Given the description of an element on the screen output the (x, y) to click on. 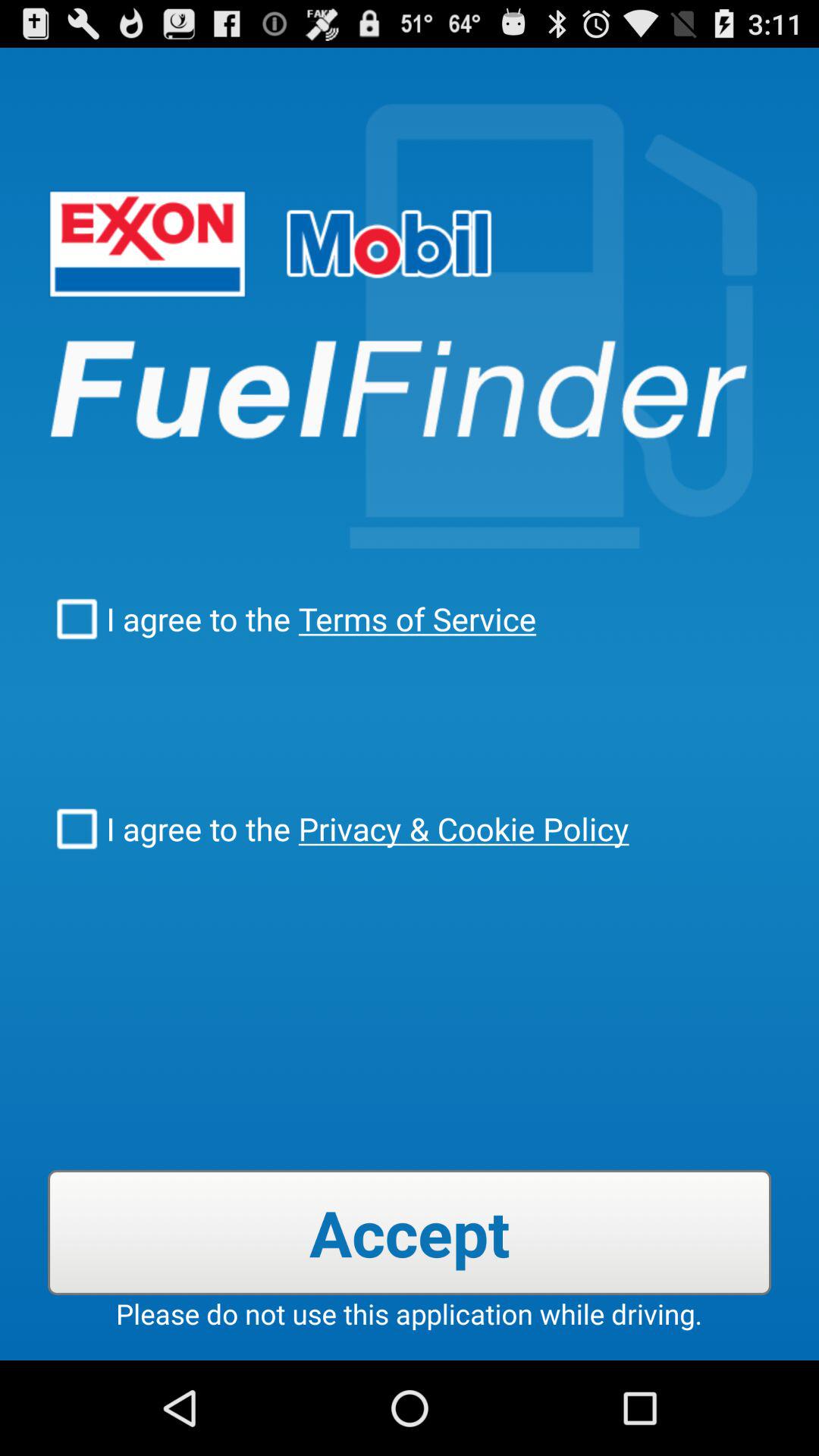
open the accept icon (409, 1232)
